Given the description of an element on the screen output the (x, y) to click on. 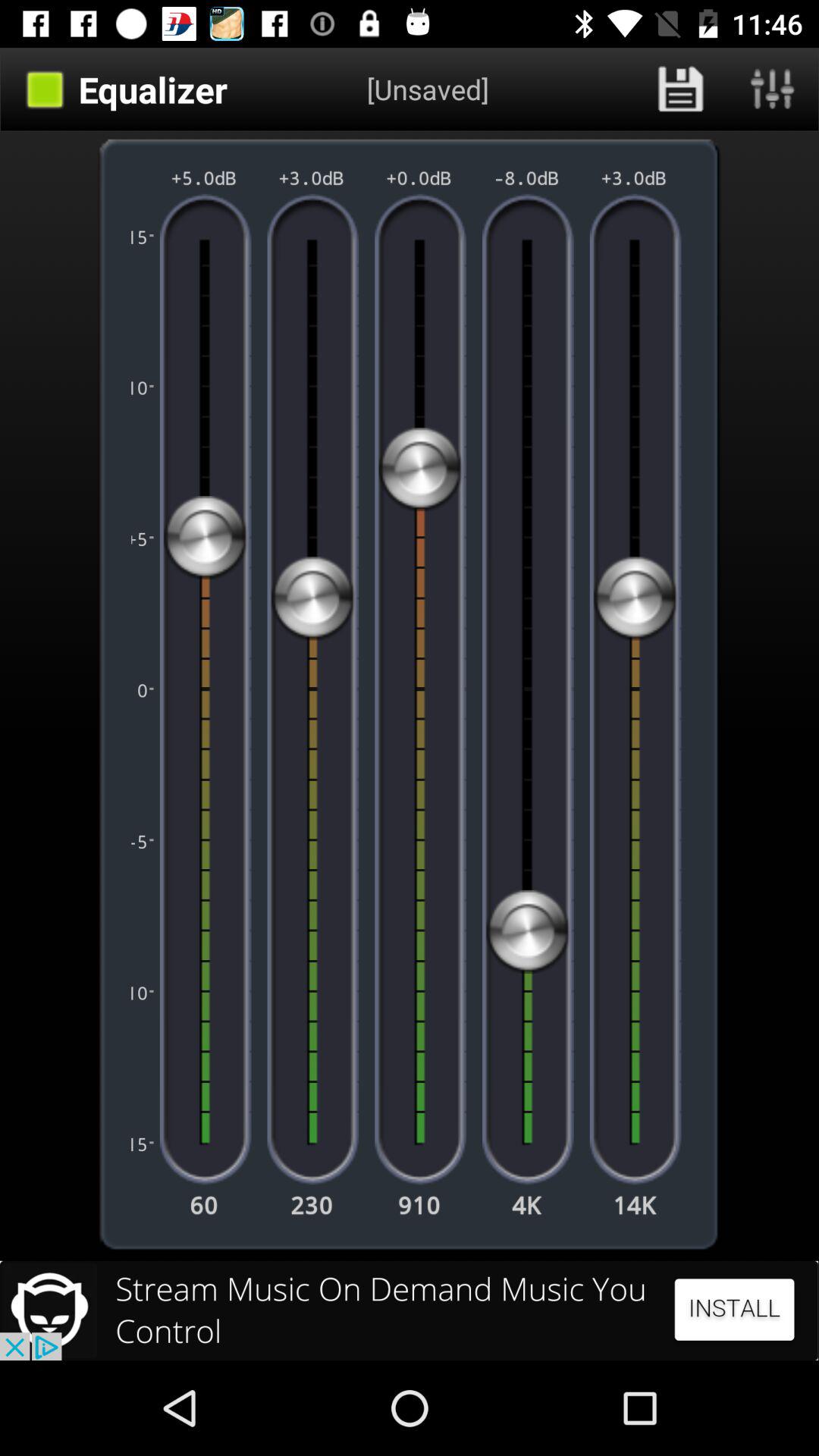
to display equalizer (773, 89)
